Given the description of an element on the screen output the (x, y) to click on. 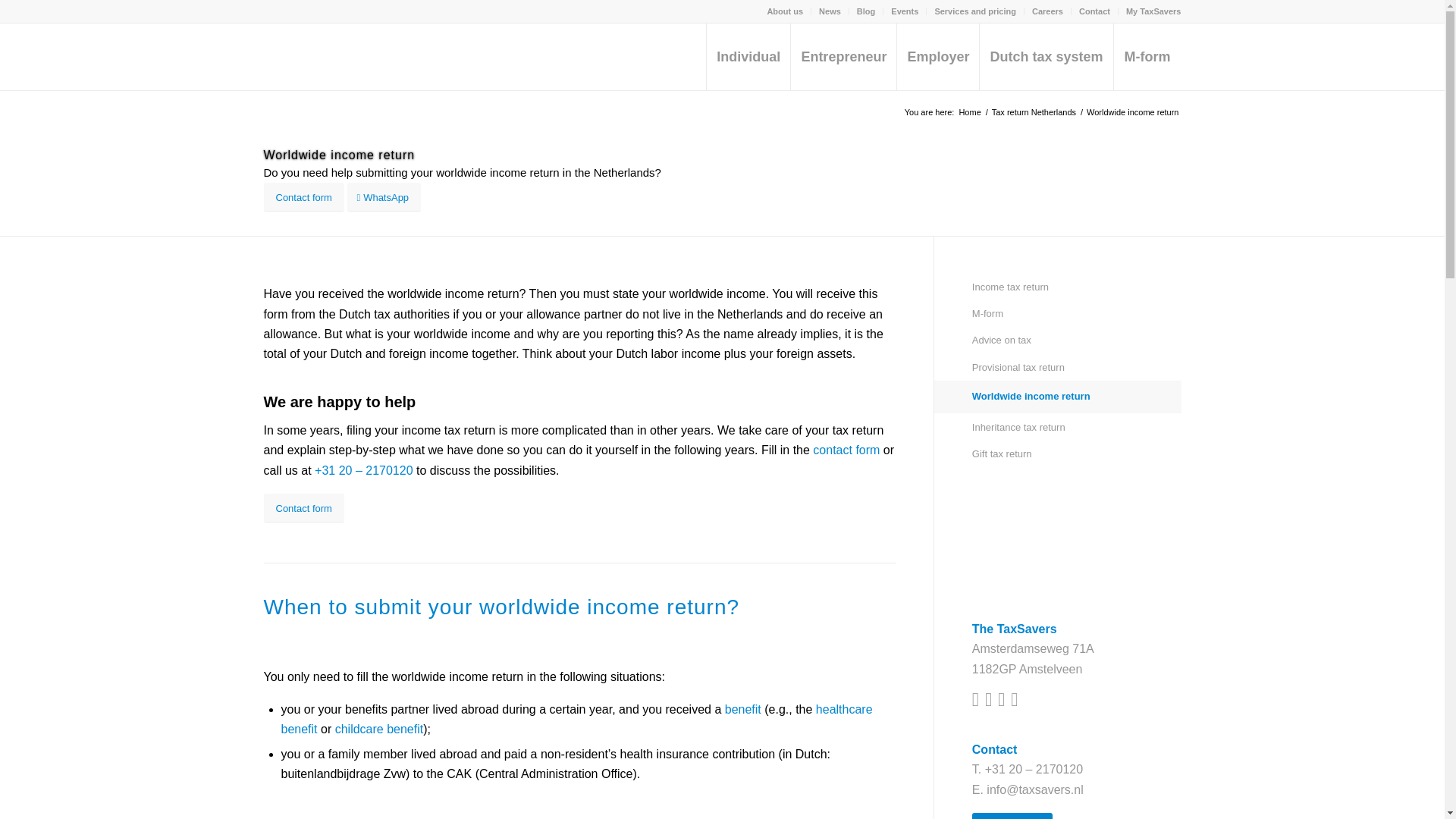
Individual (748, 56)
Contact form (303, 197)
Entrepreneur (843, 56)
Tax return Netherlands (1034, 112)
childcare benefit (378, 728)
Dutch tax system (1045, 56)
Home (969, 112)
The TaxSavers (969, 112)
Contact (1093, 11)
contact form (845, 449)
Employer (937, 56)
Careers (1047, 11)
Services and pricing (975, 11)
News (829, 11)
About us (785, 11)
